Given the description of an element on the screen output the (x, y) to click on. 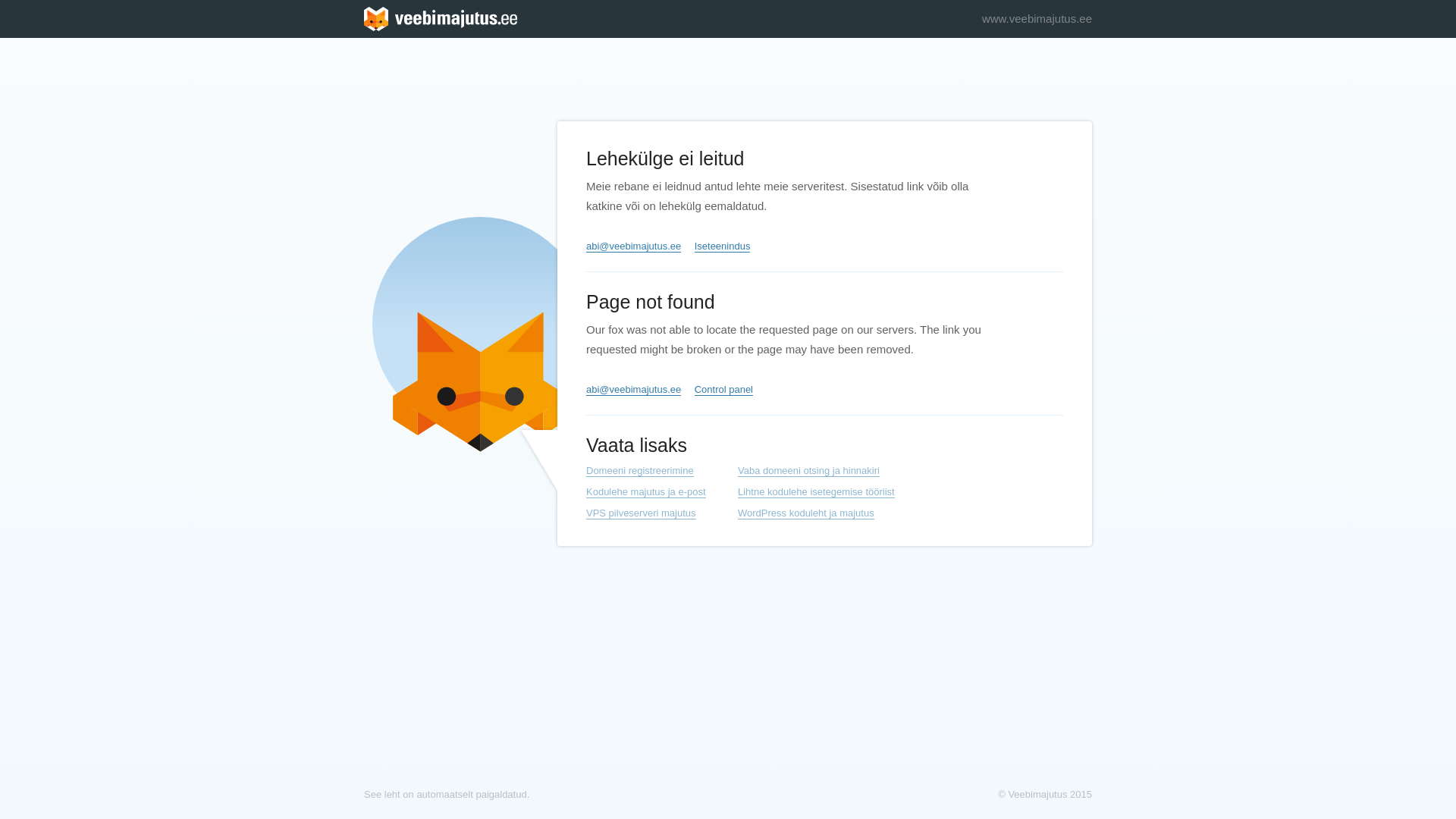
Control panel (723, 389)
Iseteenindus (722, 246)
VPS pilveserveri majutus (640, 512)
Kodulehe majutus ja e-post (646, 491)
WordPress koduleht ja majutus (806, 512)
www.veebimajutus.ee (1036, 18)
Vaba domeeni otsing ja hinnakiri (808, 470)
Domeeni registreerimine (640, 470)
